Given the description of an element on the screen output the (x, y) to click on. 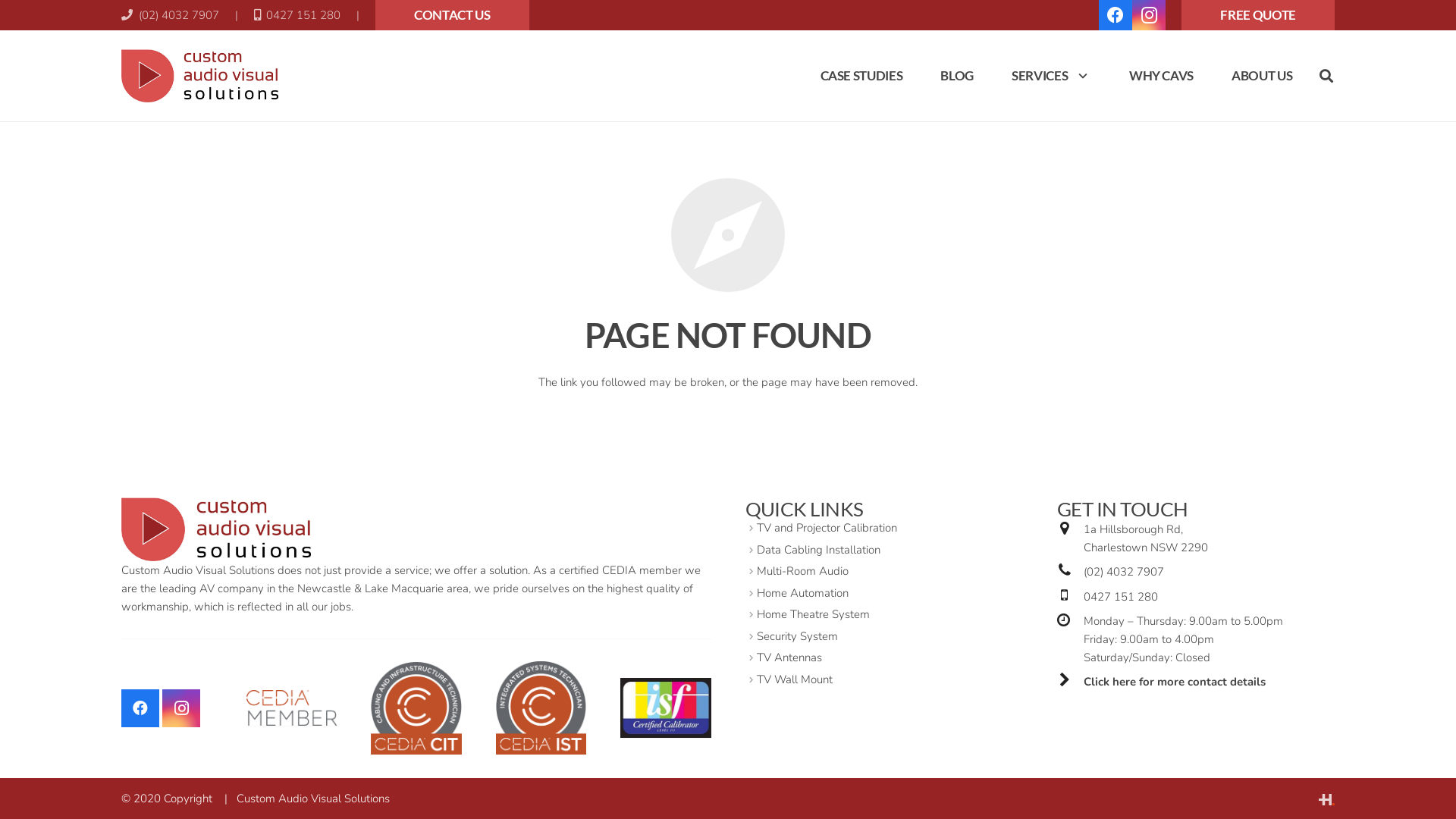
Click here for more contact details Element type: text (1174, 682)
0427 151 280 Element type: text (296, 14)
Instagram Element type: hover (181, 708)
Security System Element type: text (796, 636)
(02) 4032 7907 Element type: text (1123, 572)
Webchat widget Element type: hover (1413, 773)
TV Wall Mount Element type: text (794, 679)
BLOG Element type: text (956, 75)
Facebook Element type: hover (140, 708)
SERVICES Element type: text (1051, 75)
Data Cabling Installation Element type: text (818, 550)
(02) 4032 7907 Element type: text (170, 14)
CASE STUDIES Element type: text (861, 75)
Home Automation Element type: text (802, 593)
Home Theatre System Element type: text (812, 614)
TV and Projector Calibration Element type: text (826, 528)
0427 151 280 Element type: text (1120, 597)
WHY CAVS Element type: text (1161, 75)
Multi-Room Audio Element type: text (802, 571)
ABOUT US Element type: text (1261, 75)
Website by HyperWeb Element type: hover (1326, 798)
TV Antennas Element type: text (789, 657)
